Given the description of an element on the screen output the (x, y) to click on. 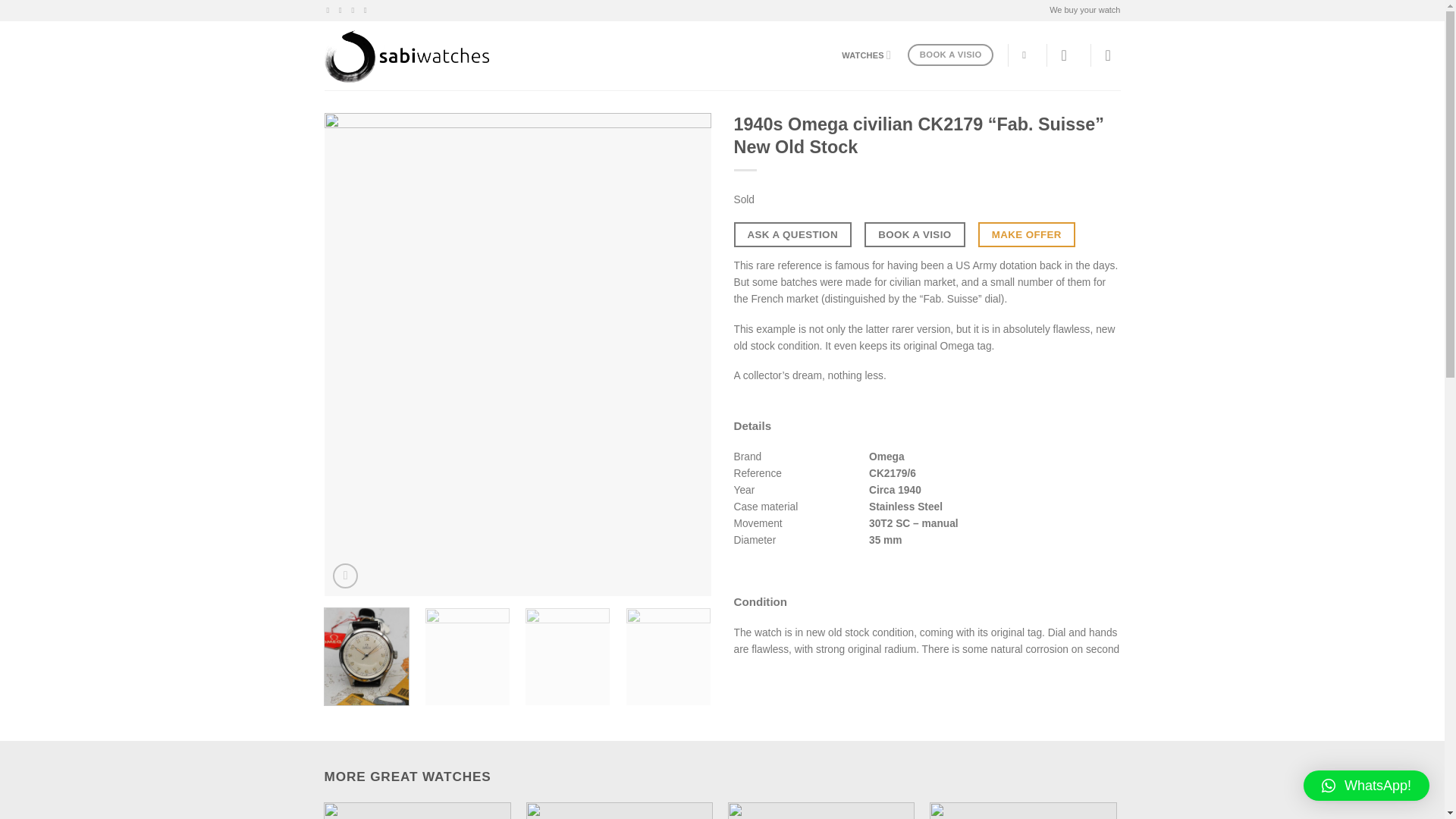
Follow on Instagram (342, 9)
We buy your watch (1084, 10)
Zoom (345, 575)
WATCHES (866, 54)
Call us (355, 9)
Follow on Facebook (330, 9)
BOOK A VISIO (949, 55)
Sabiwatches - Rare vintage and collectible watches (406, 55)
Follow on LinkedIn (367, 9)
